Given the description of an element on the screen output the (x, y) to click on. 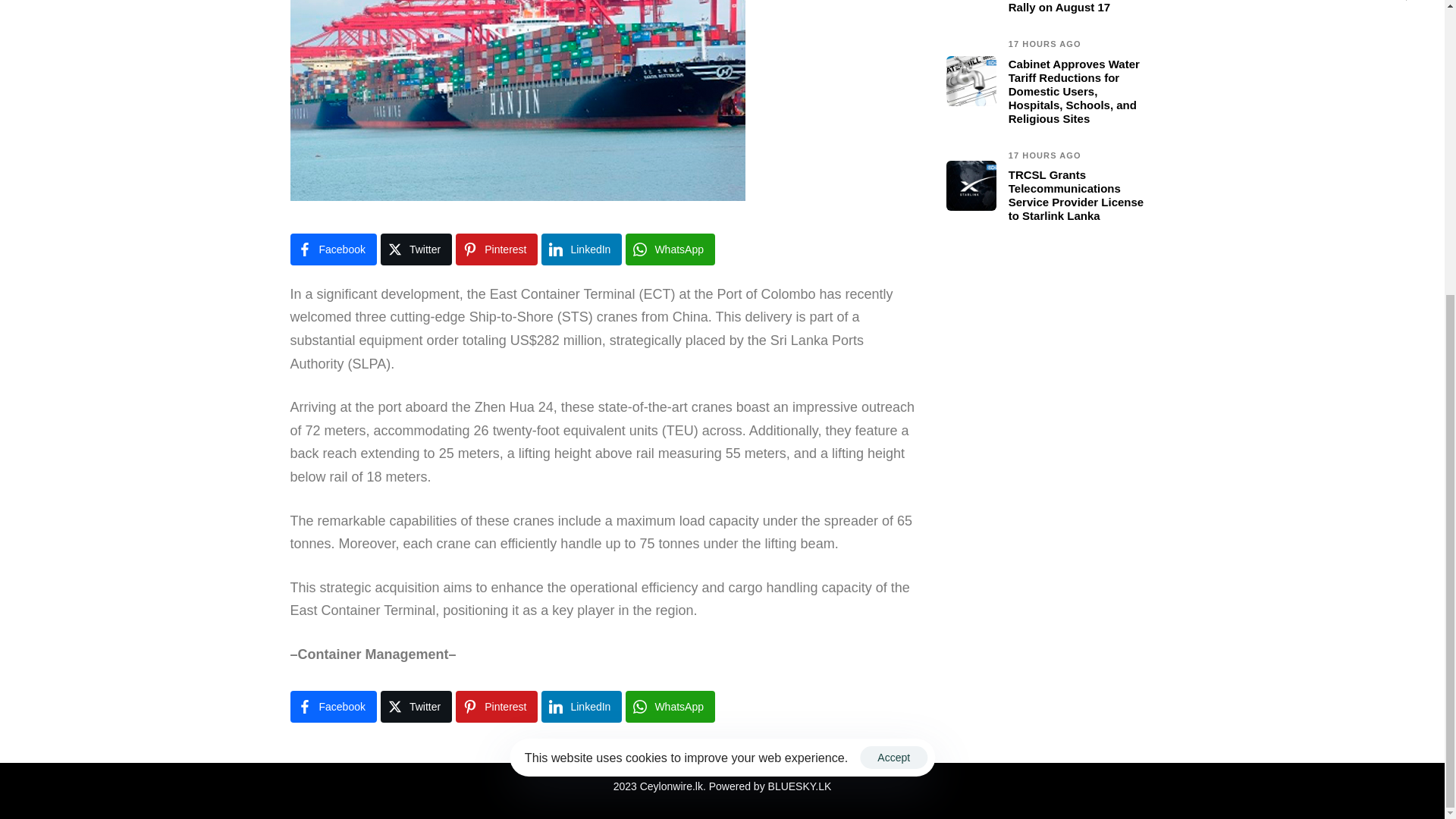
Share on LinkedIn (581, 249)
Share on Twitter (415, 706)
Twitter (415, 249)
Share on WhatsApp (670, 249)
LinkedIn (581, 706)
LinkedIn (581, 249)
Share on WhatsApp (670, 706)
Share on Twitter (415, 249)
scroll (1406, 0)
